Given the description of an element on the screen output the (x, y) to click on. 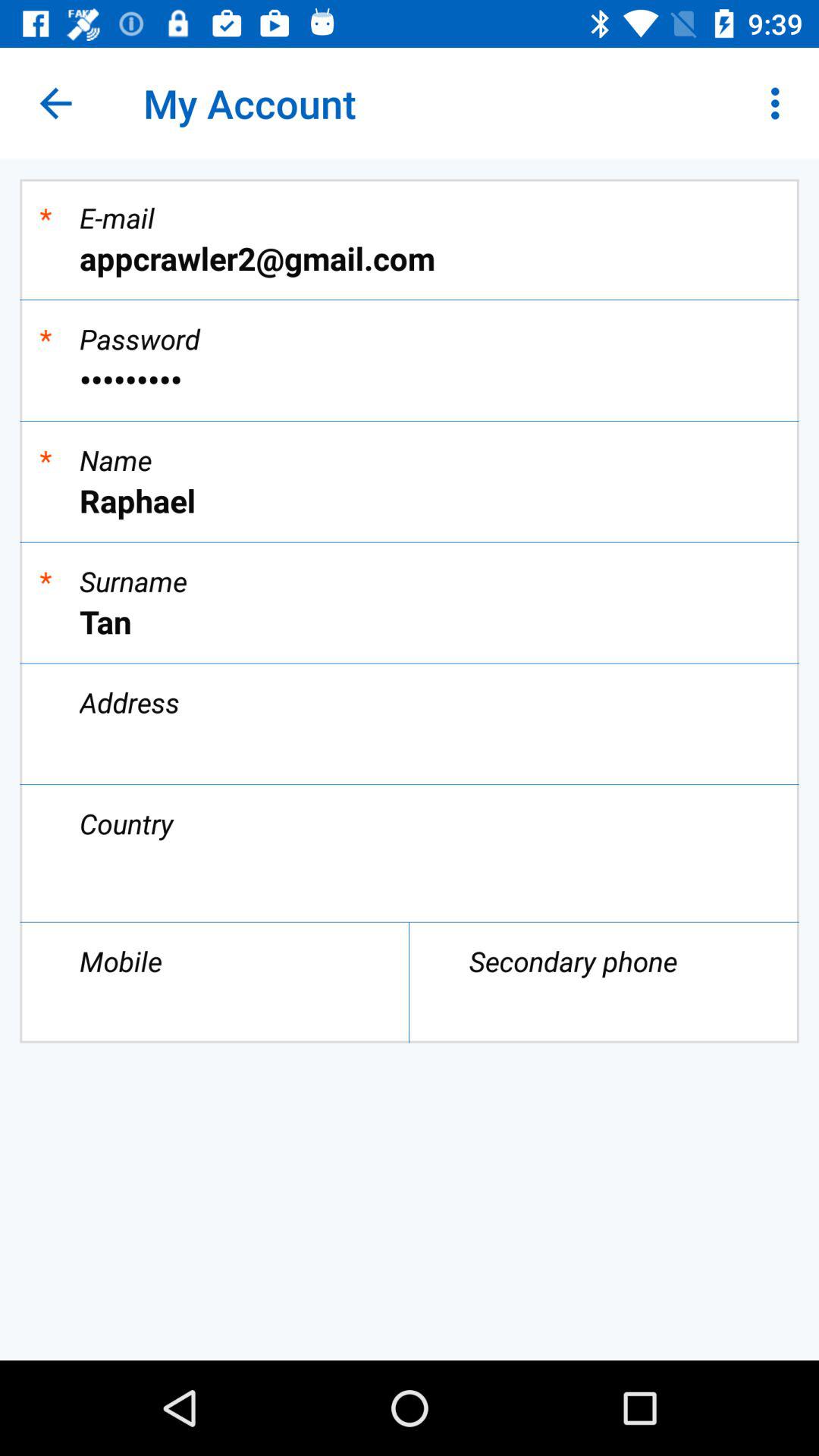
open item at the top right corner (779, 103)
